Given the description of an element on the screen output the (x, y) to click on. 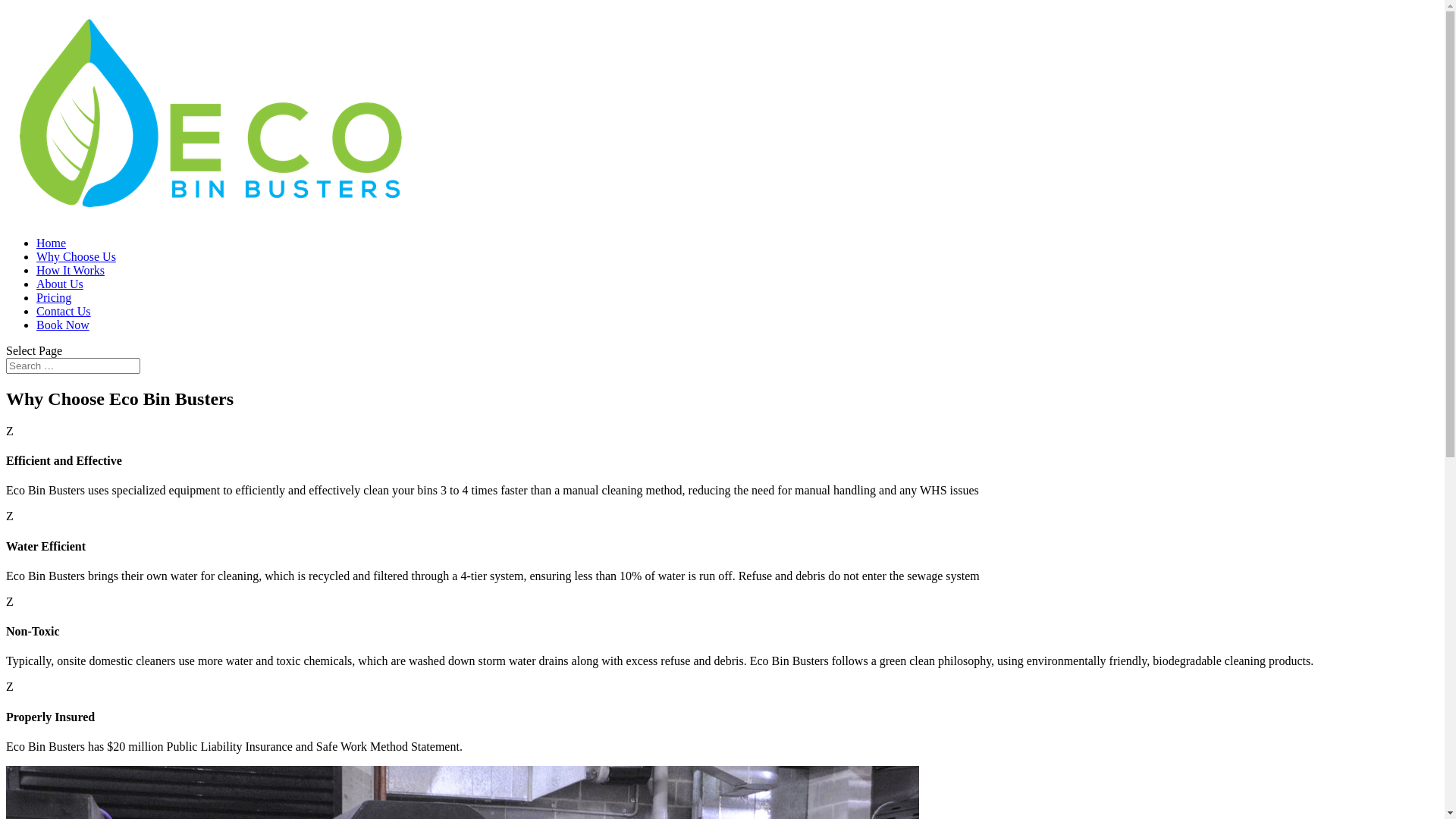
Pricing Element type: text (53, 297)
Contact Us Element type: text (63, 310)
How It Works Element type: text (70, 269)
About Us Element type: text (59, 283)
Book Now Element type: text (62, 324)
Home Element type: text (50, 242)
Why Choose Us Element type: text (76, 256)
Search for: Element type: hover (73, 365)
